Given the description of an element on the screen output the (x, y) to click on. 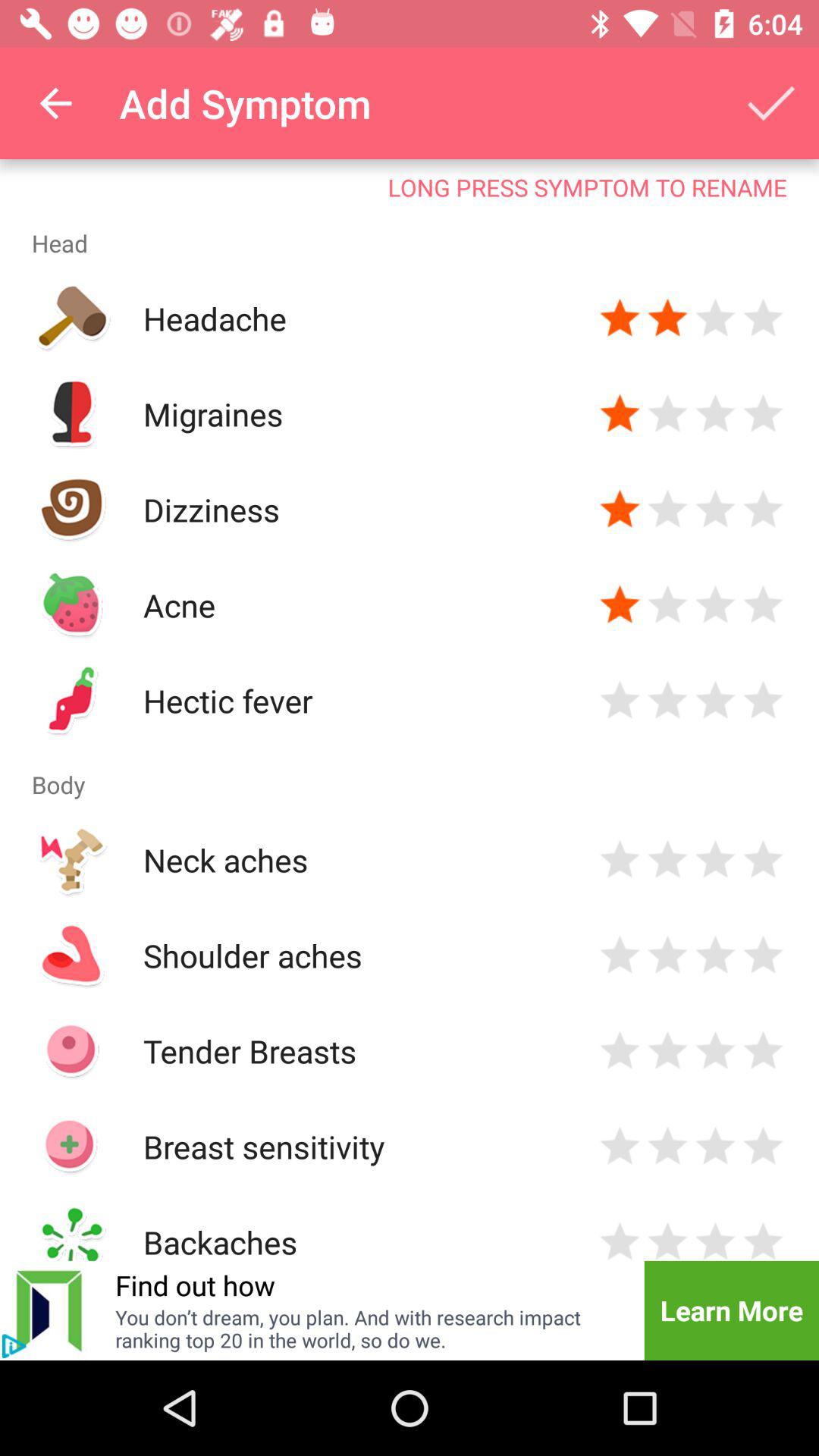
rate symptom 4 stars (763, 1050)
